Given the description of an element on the screen output the (x, y) to click on. 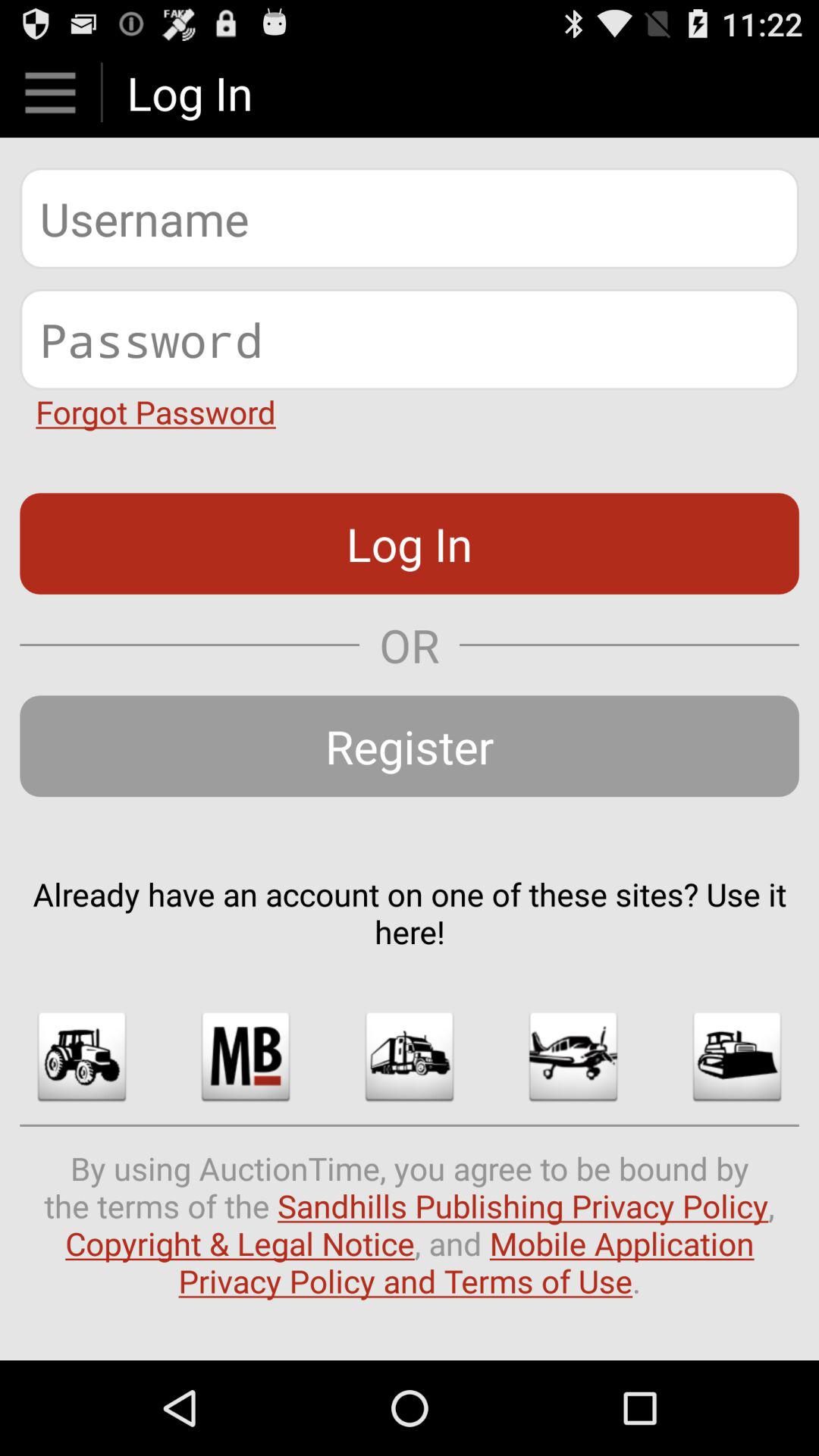
jump to the register item (409, 745)
